Given the description of an element on the screen output the (x, y) to click on. 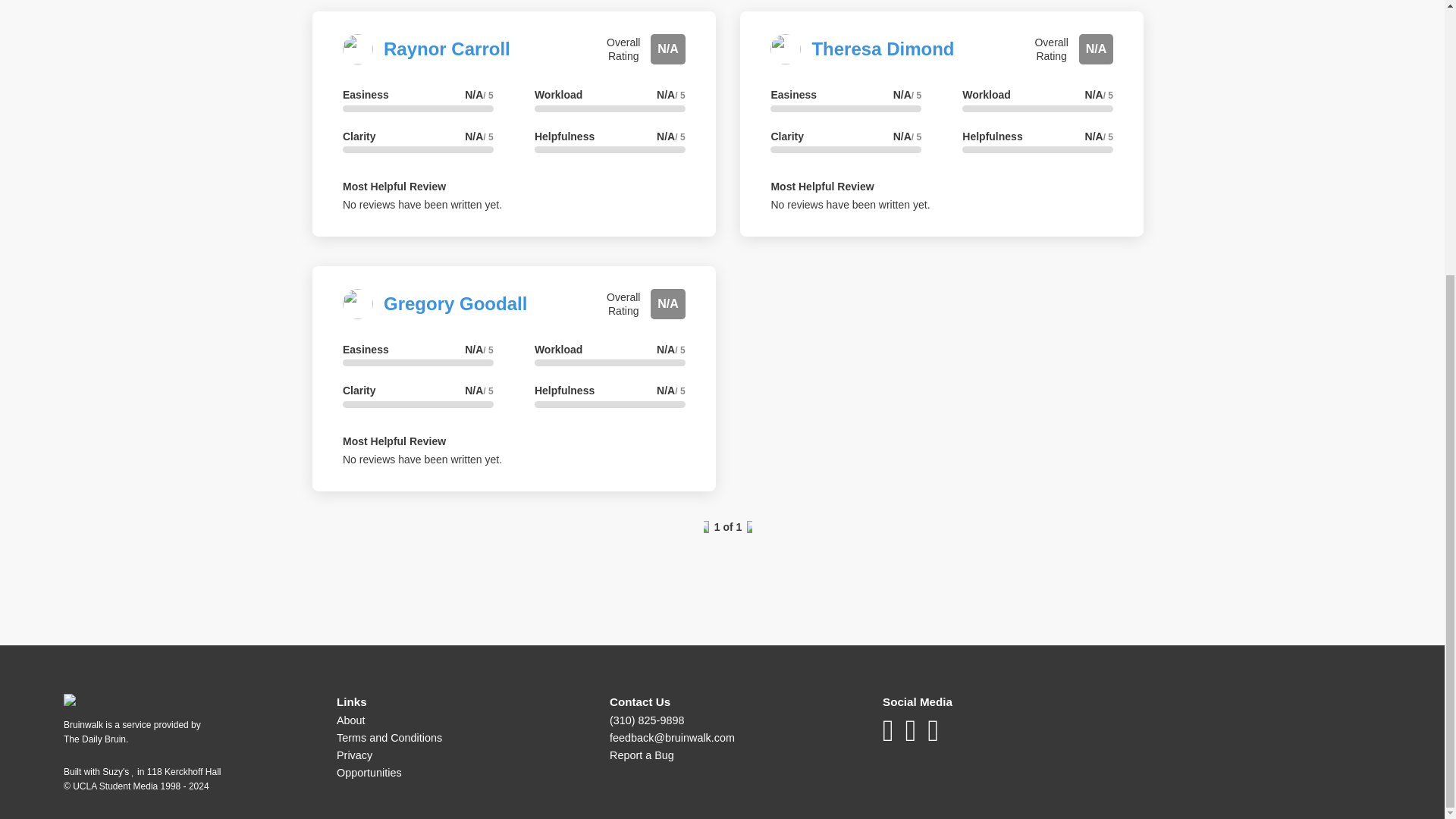
Raynor Carroll (447, 48)
Gregory Goodall (455, 303)
No reviews have been written yet. (422, 459)
No reviews have been written yet. (422, 204)
No reviews have been written yet. (850, 204)
About (350, 720)
Report a Bug (642, 755)
Opportunities (368, 772)
Most Helpful Review (393, 186)
Terms and Conditions (389, 737)
